Given the description of an element on the screen output the (x, y) to click on. 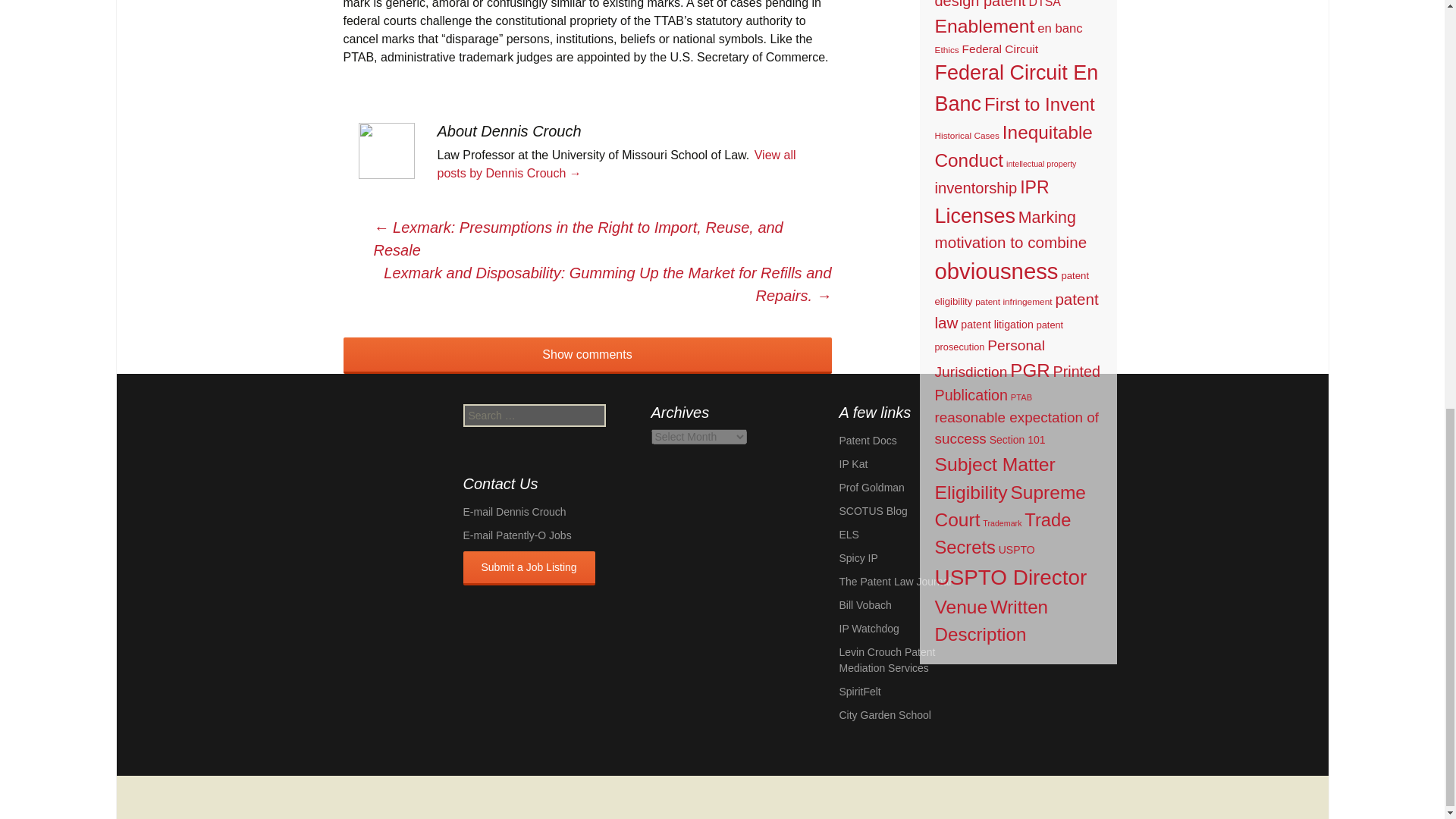
Show comments (586, 355)
